Given the description of an element on the screen output the (x, y) to click on. 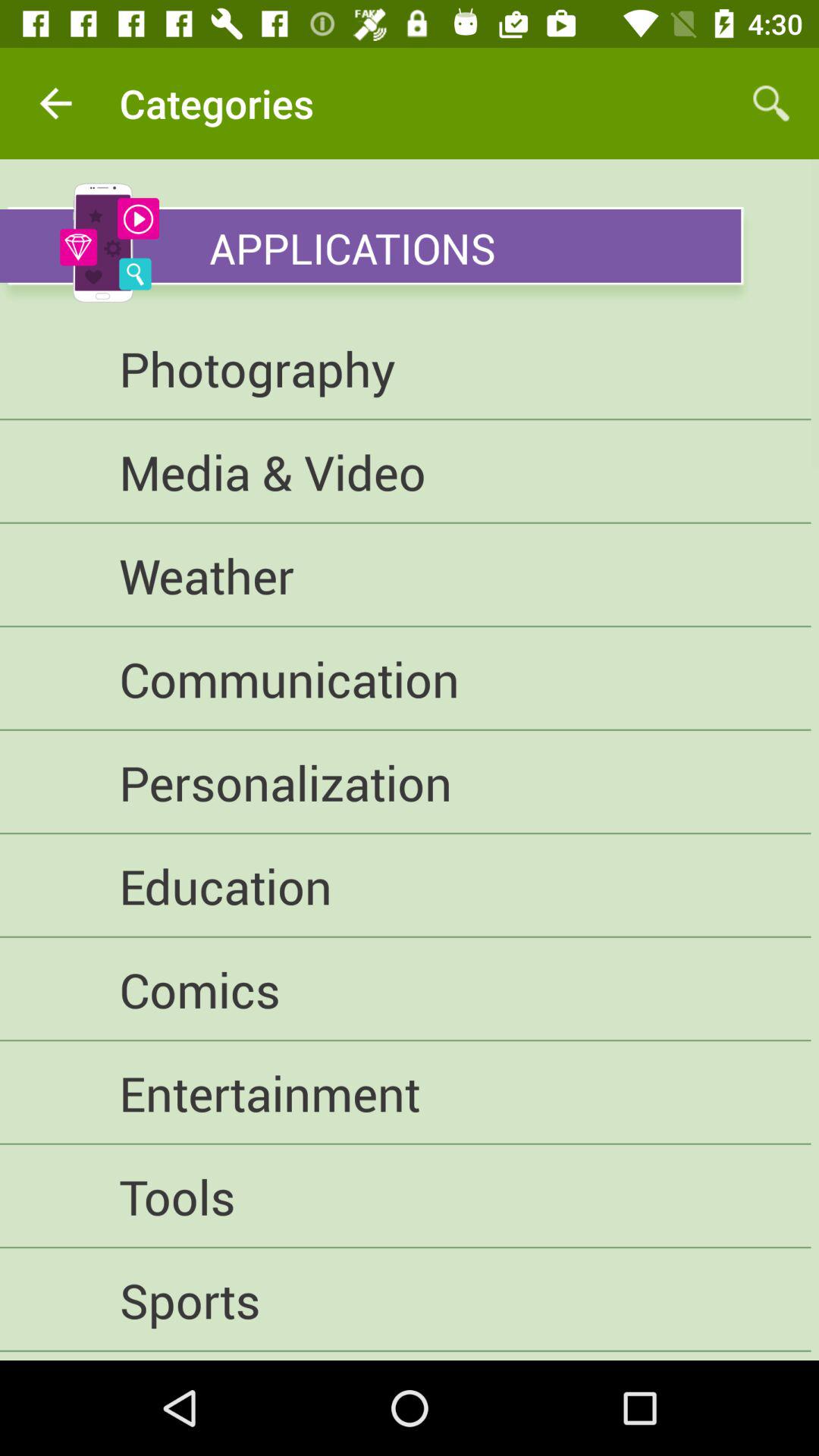
flip to the media & video (405, 471)
